Given the description of an element on the screen output the (x, y) to click on. 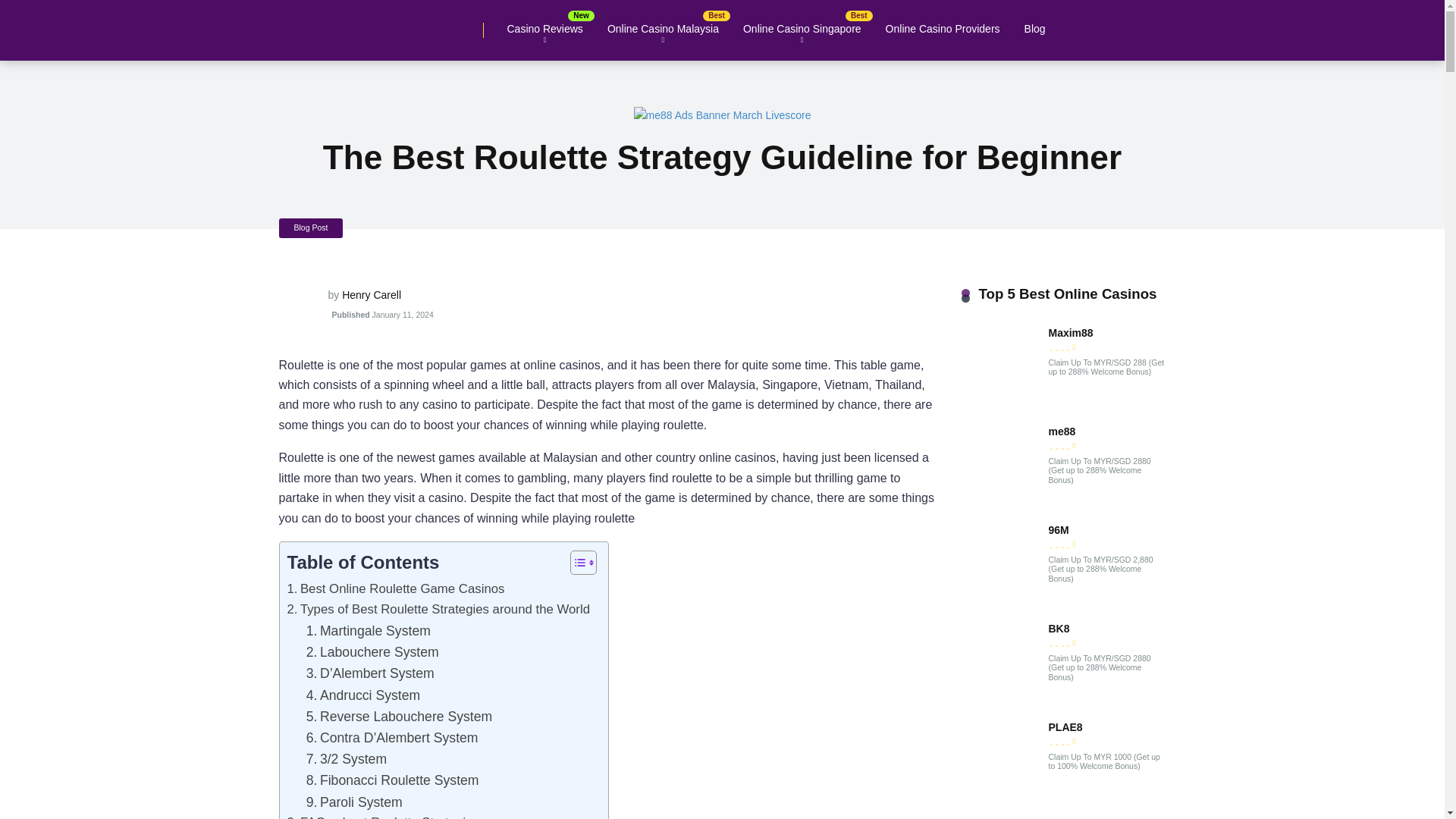
Martingale System (367, 630)
Online Casinoz (311, 24)
Reverse Labouchere System (399, 716)
Henry Carell (371, 295)
Labouchere System (372, 651)
Online Casino Singapore (801, 29)
Types of Best Roulette Strategies around the World (437, 609)
Casino Reviews (544, 29)
Reverse Labouchere System (399, 716)
Martingale System (367, 630)
